Given the description of an element on the screen output the (x, y) to click on. 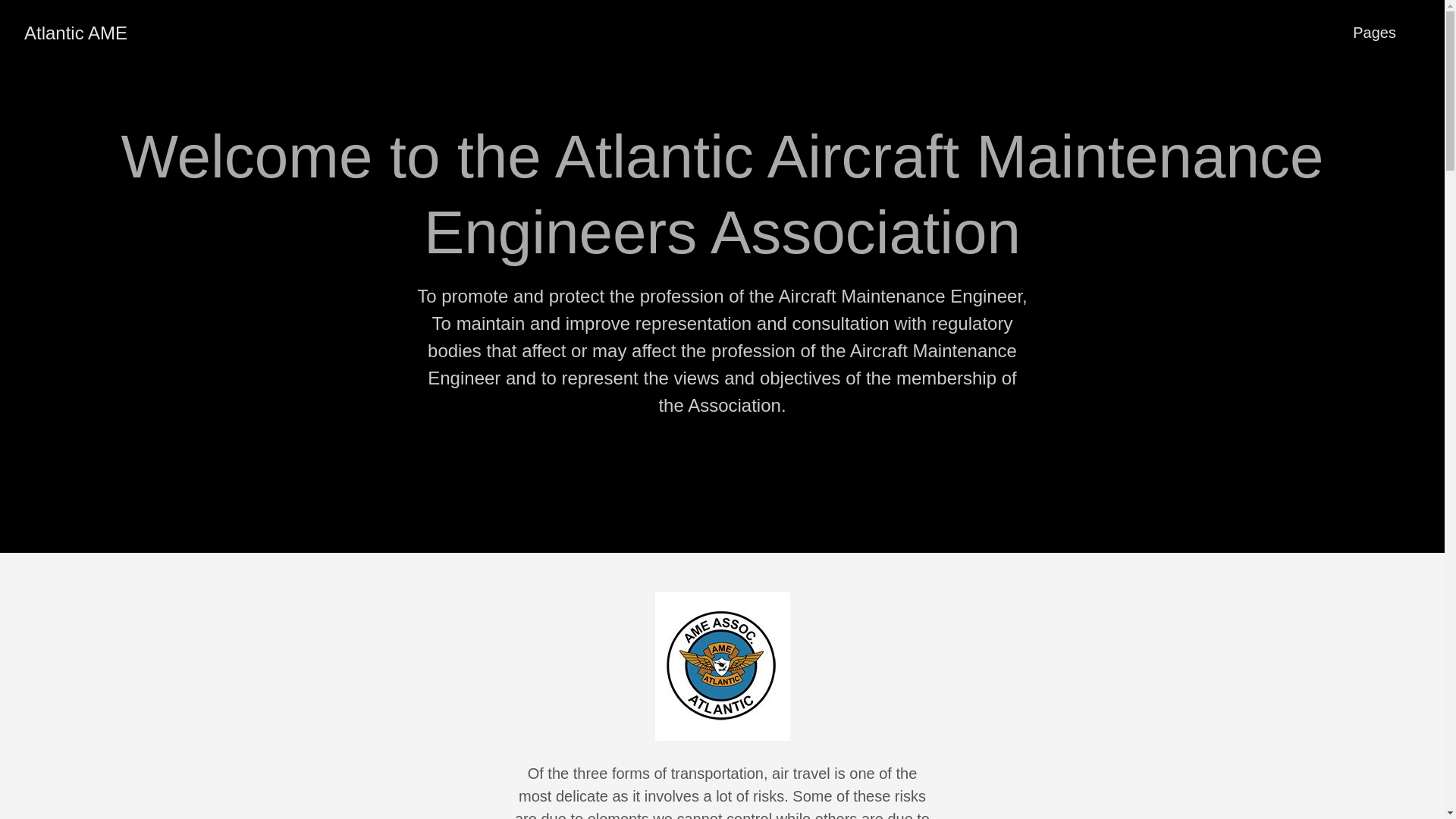
Atlantic AME Element type: text (75, 32)
Pages Element type: text (1374, 32)
